Given the description of an element on the screen output the (x, y) to click on. 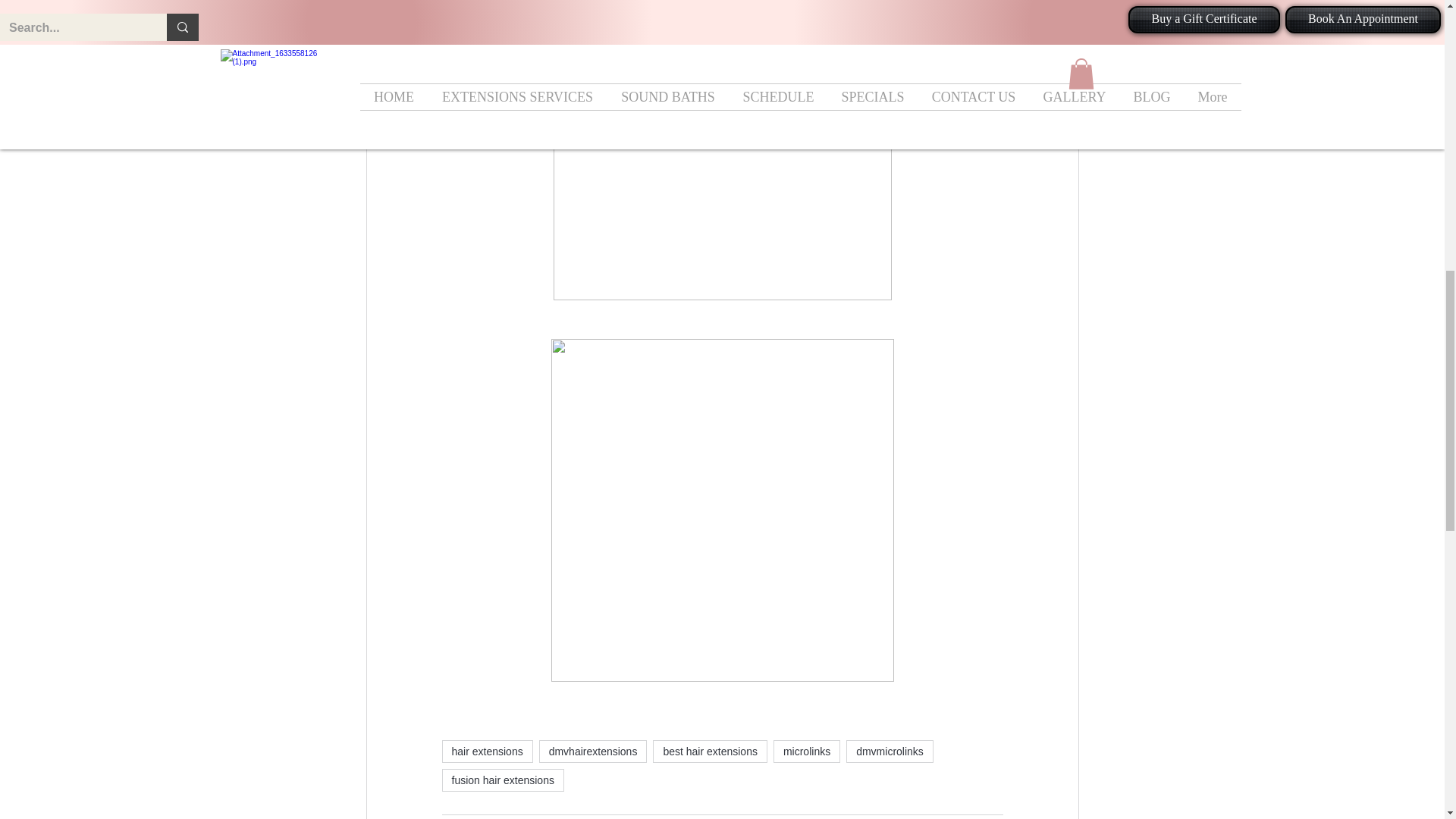
fusion hair extensions (502, 780)
dmvhairextensions (592, 751)
dmvmicrolinks (889, 751)
microlinks (806, 751)
hair extensions (486, 751)
best hair extensions (709, 751)
